Given the description of an element on the screen output the (x, y) to click on. 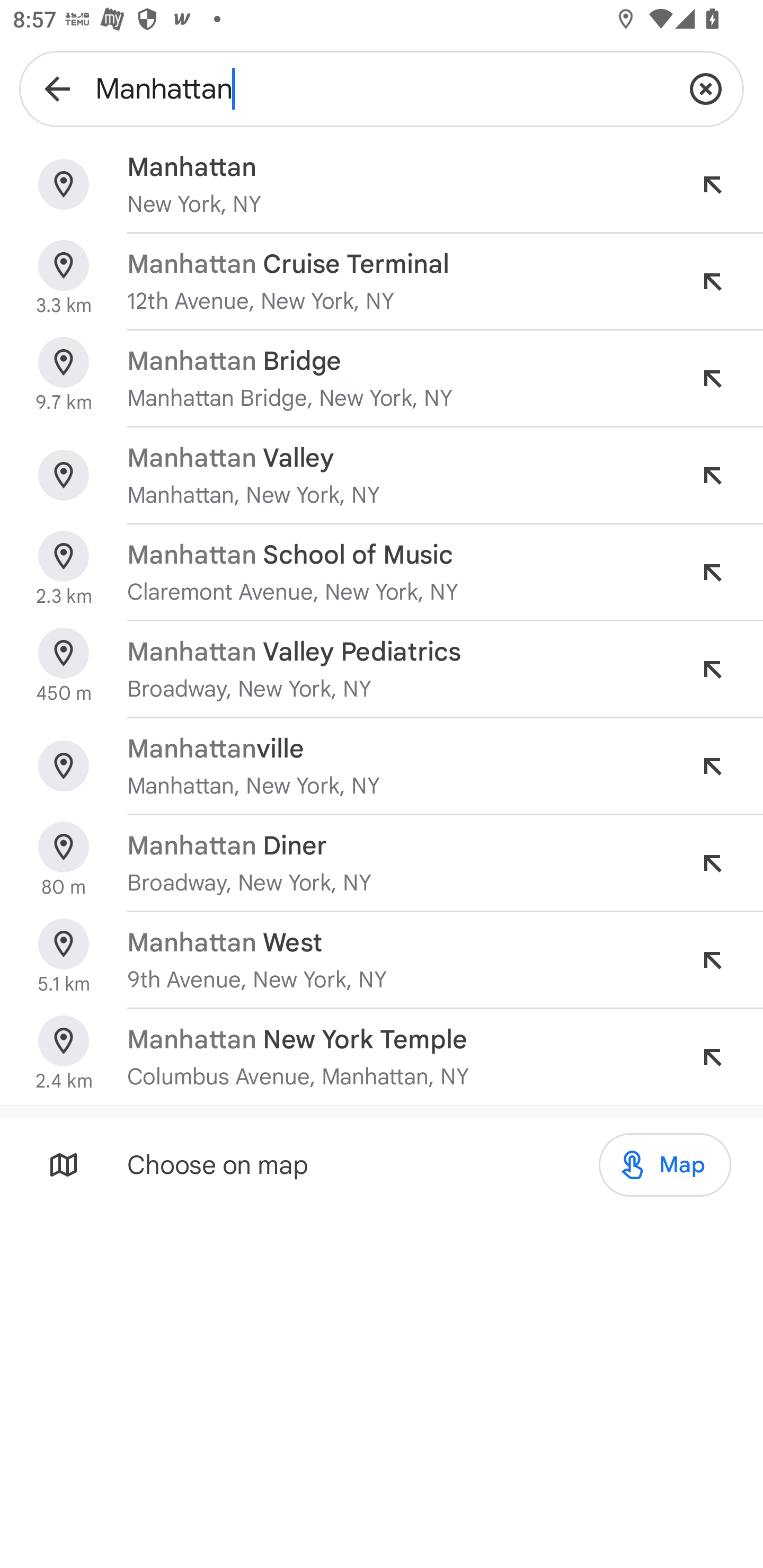
Navigate up (57, 88)
Manhattan (381, 88)
Clear (705, 88)
Choose on map Map Map Map (381, 1164)
Map Map Map (664, 1164)
